Given the description of an element on the screen output the (x, y) to click on. 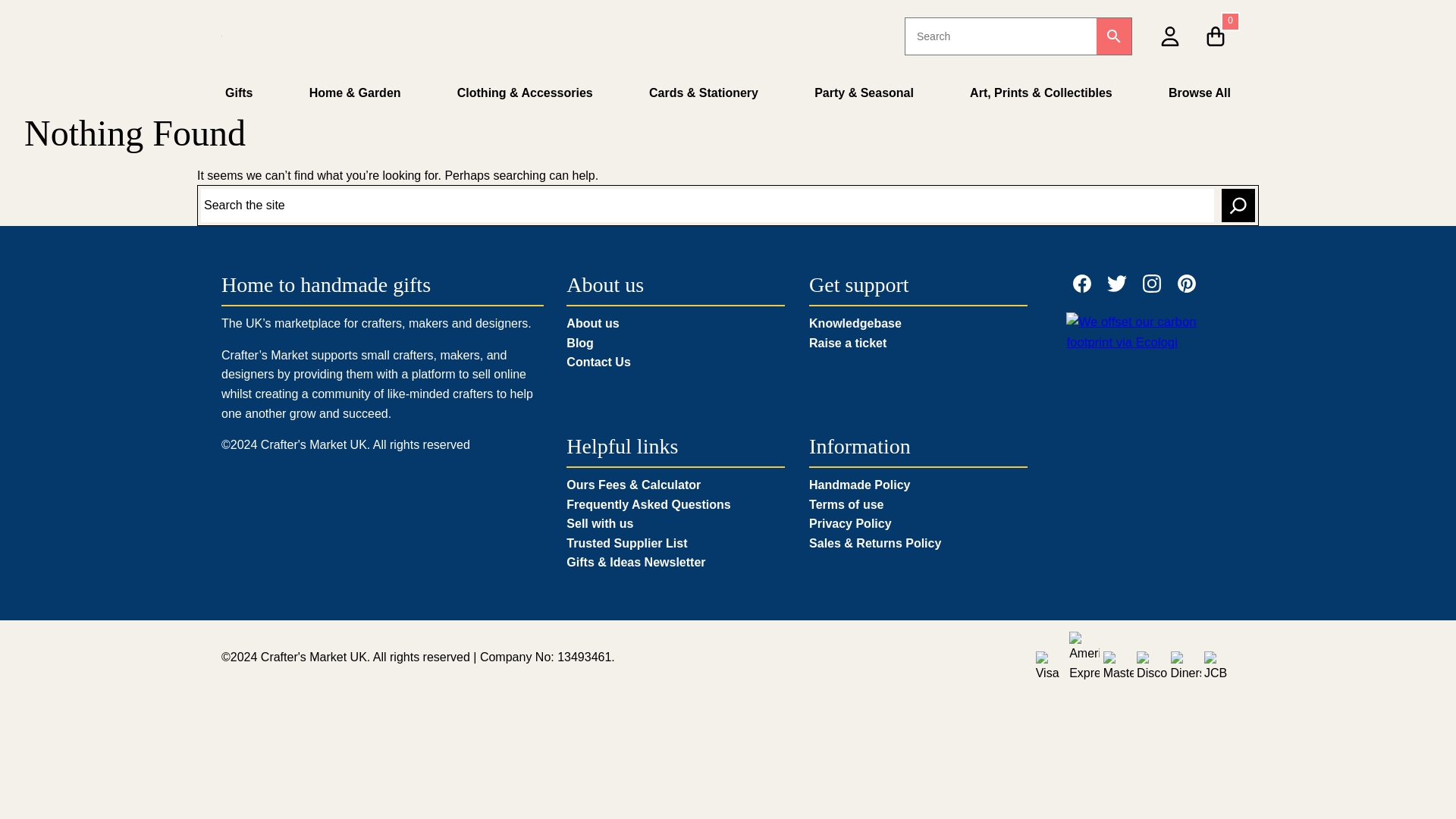
0 (1215, 35)
Register (1044, 203)
Crafter's Market UK Pinterest (1186, 283)
0 items (1215, 35)
Crafter's Market UK Instagram (1151, 283)
Crafter's Market UK Facebook (1081, 283)
Gifts (238, 92)
Crafter's Market UK Twitter (1116, 283)
Log in (1034, 105)
View our Ecologi profile (1141, 332)
